Given the description of an element on the screen output the (x, y) to click on. 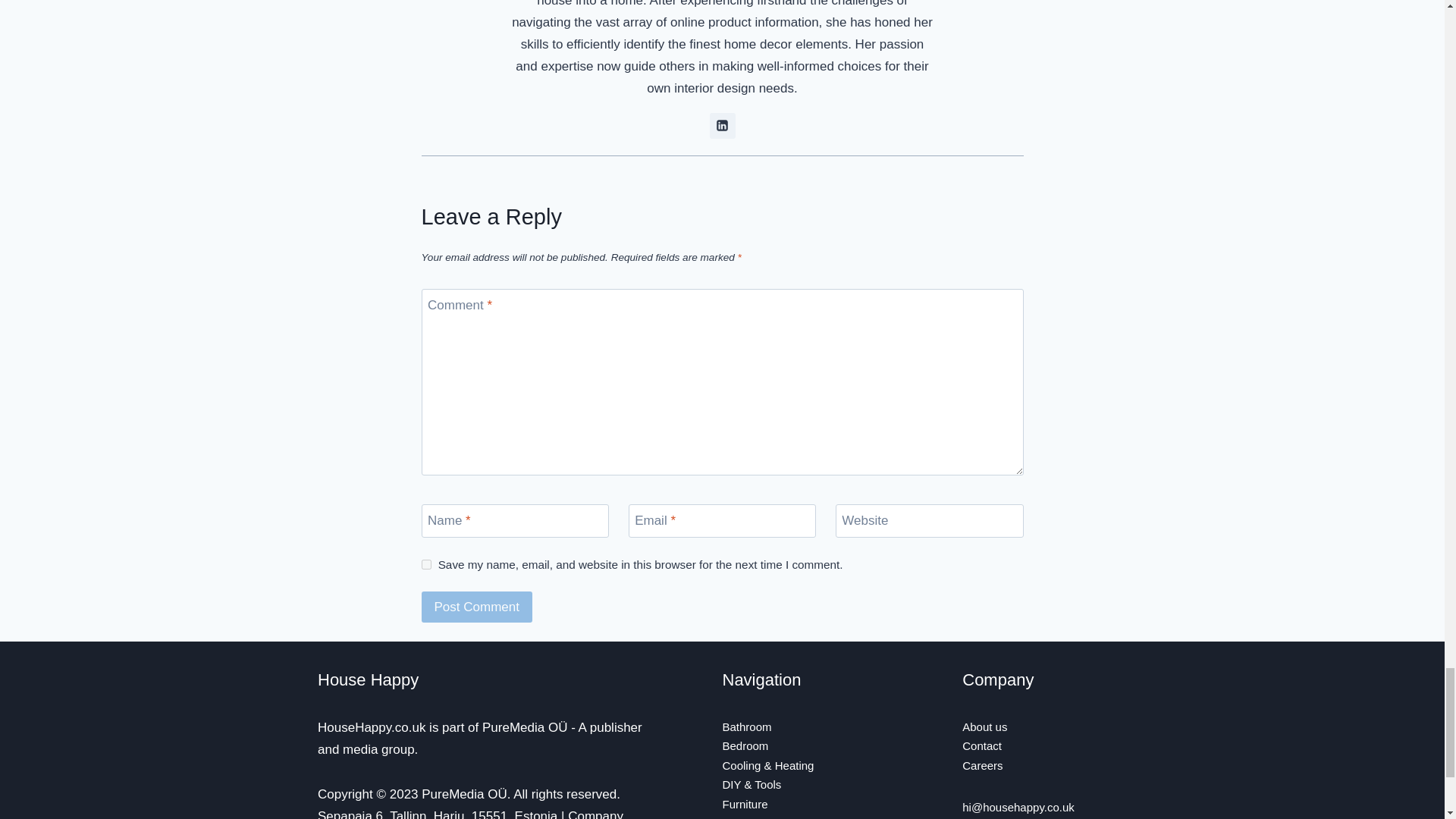
Bedroom (745, 745)
Post Comment (477, 606)
Furniture (744, 803)
About us (984, 726)
Post Comment (477, 606)
Garden (741, 817)
Follow Kelly Rowett on Linkedin (722, 125)
yes (426, 564)
Bathroom (746, 726)
